Given the description of an element on the screen output the (x, y) to click on. 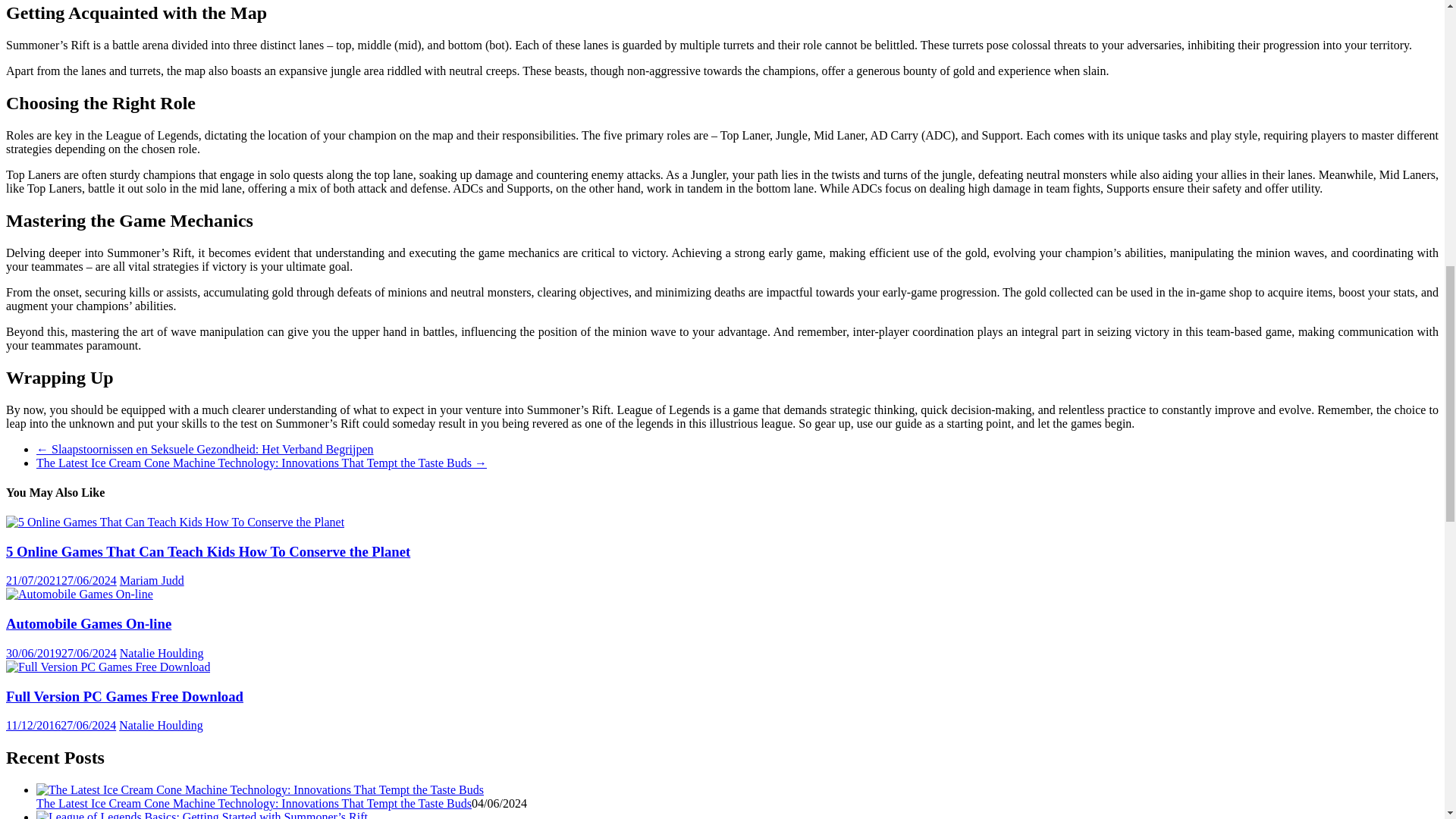
13:11 (60, 580)
